Given the description of an element on the screen output the (x, y) to click on. 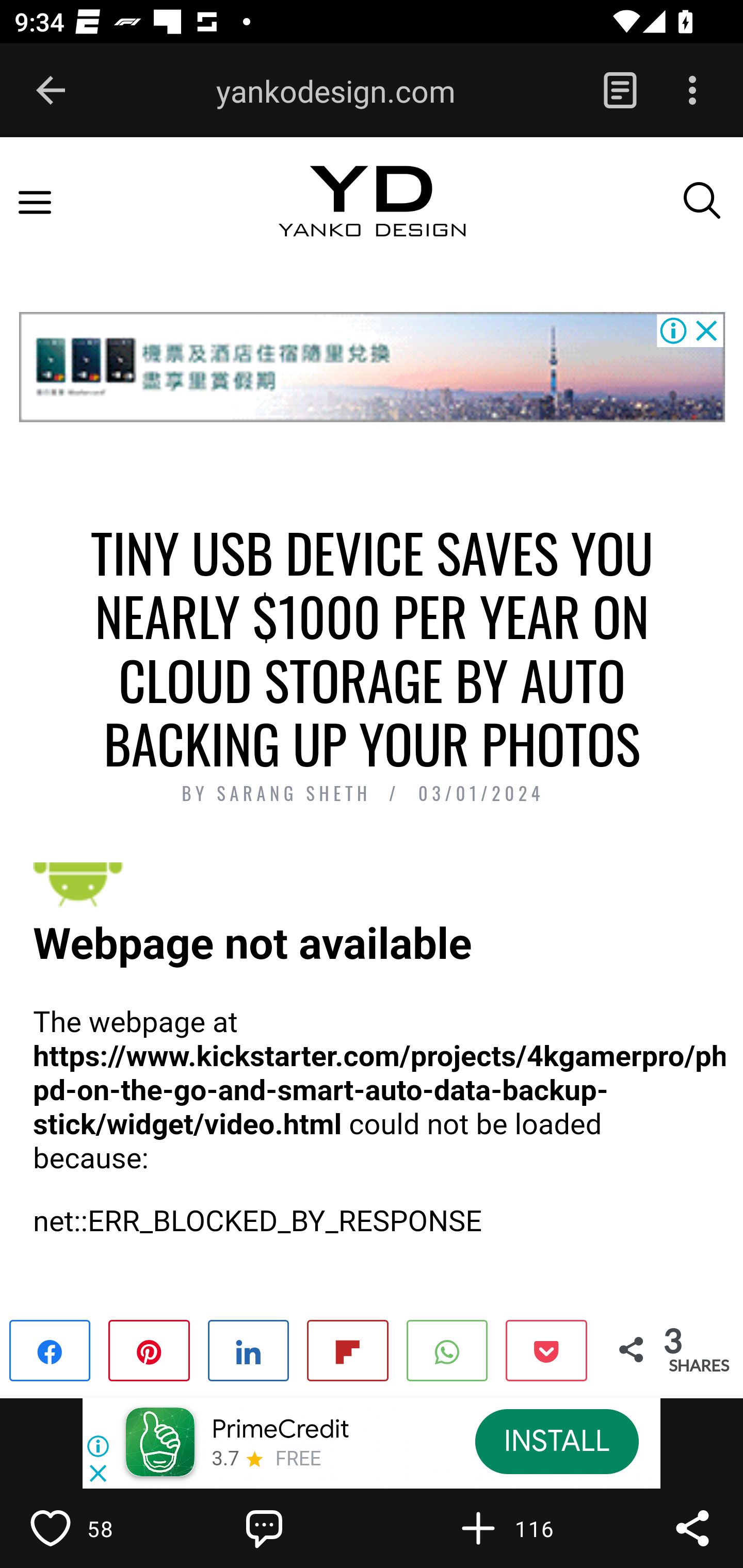
Back (50, 90)
Reader View (619, 90)
Options (692, 90)
Yanko Design - Modern Industrial Design News (371, 218)
Advertisement (371, 366)
SARANG SHETH (298, 794)
k Share k Share (50, 1348)
A Pin A Pin (148, 1348)
s Share s Share (249, 1348)
m Flip m Flip (346, 1348)
T WhatsApp T WhatsApp (447, 1348)
C Pocket C Pocket (545, 1348)
INSTALL (556, 1441)
PrimeCredit (279, 1429)
3.7 (224, 1459)
FREE (298, 1459)
Like 58 (93, 1528)
Write a comment… (307, 1528)
Flip into Magazine 116 (521, 1528)
Share (692, 1528)
